Given the description of an element on the screen output the (x, y) to click on. 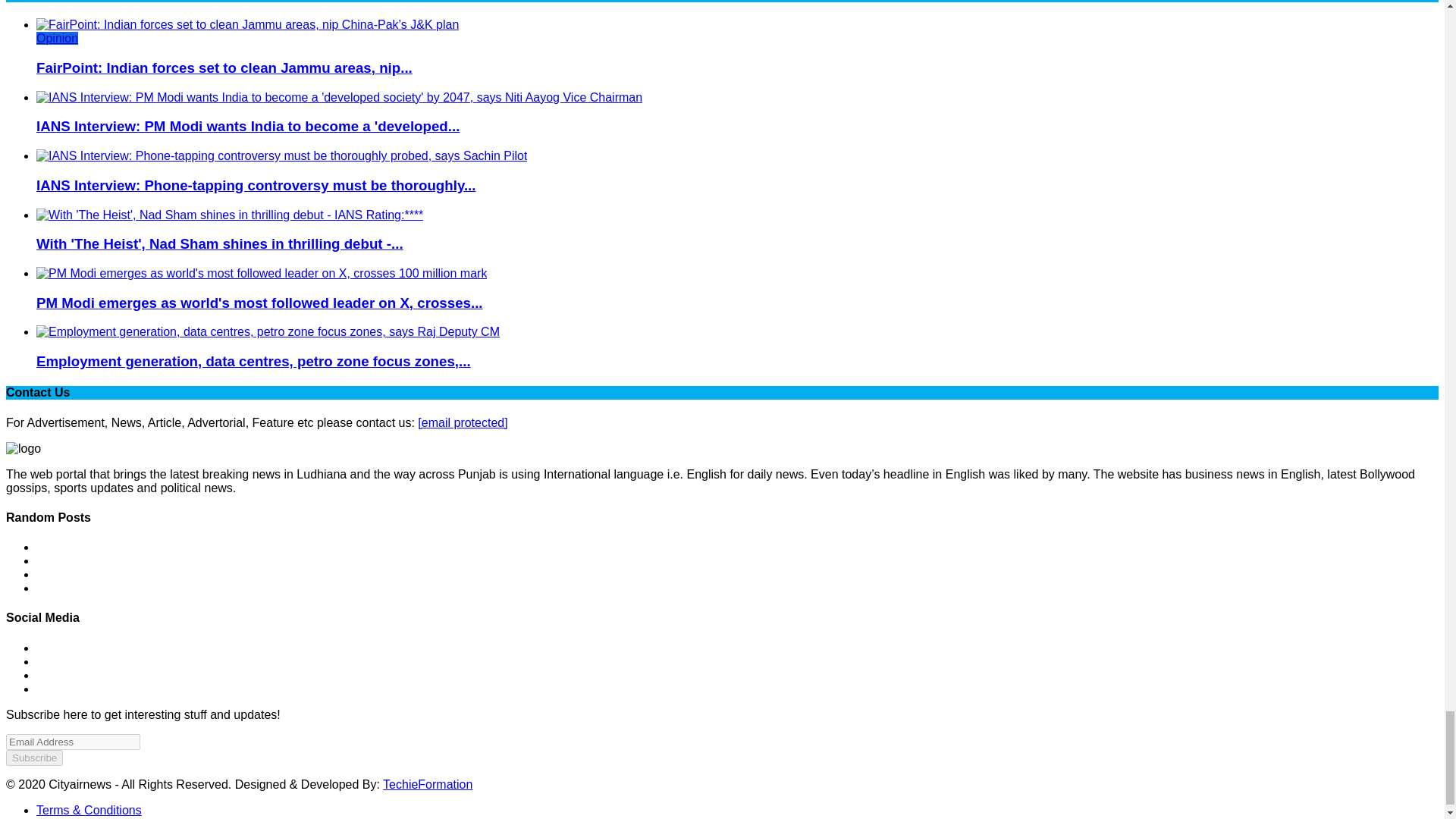
Subscribe (33, 757)
